Given the description of an element on the screen output the (x, y) to click on. 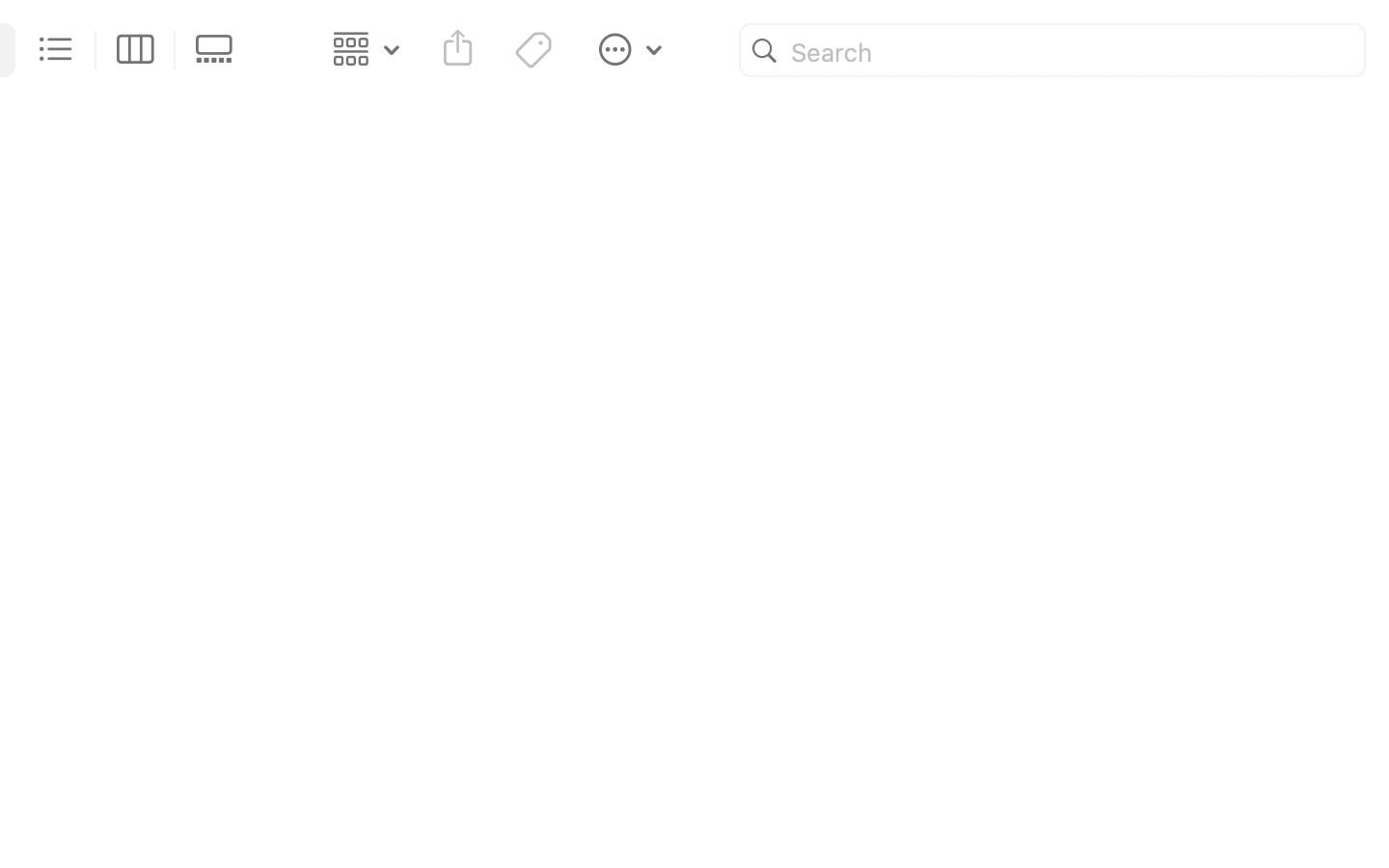
0 Element type: AXRadioButton (219, 49)
